Given the description of an element on the screen output the (x, y) to click on. 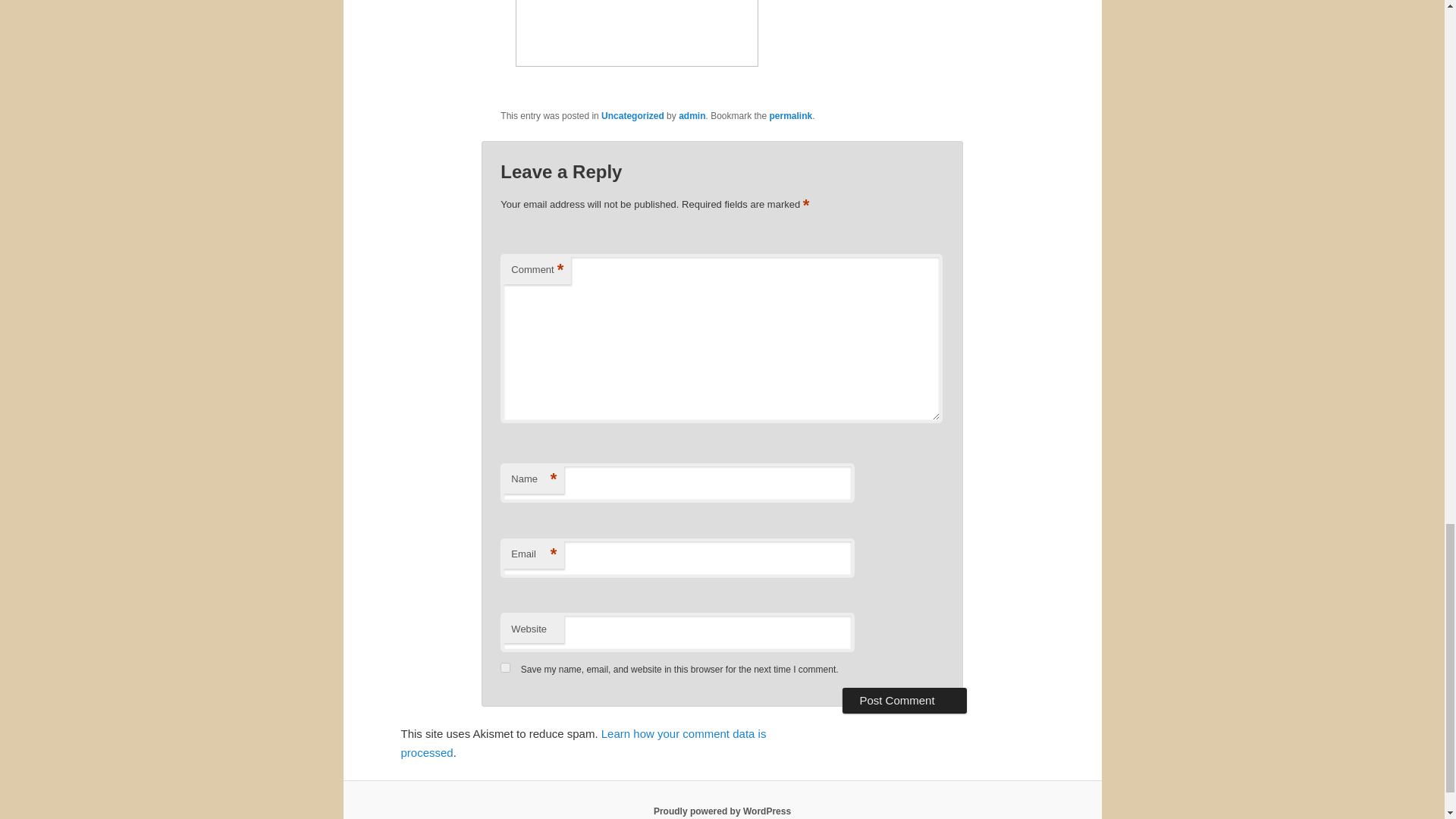
admin (691, 115)
Uncategorized (632, 115)
Post Comment (904, 700)
Permalink to Ice Storm Weekend (791, 115)
Semantic Personal Publishing Platform (721, 810)
Learn how your comment data is processed (582, 742)
yes (505, 667)
permalink (791, 115)
Post Comment (904, 700)
Proudly powered by WordPress (721, 810)
